Given the description of an element on the screen output the (x, y) to click on. 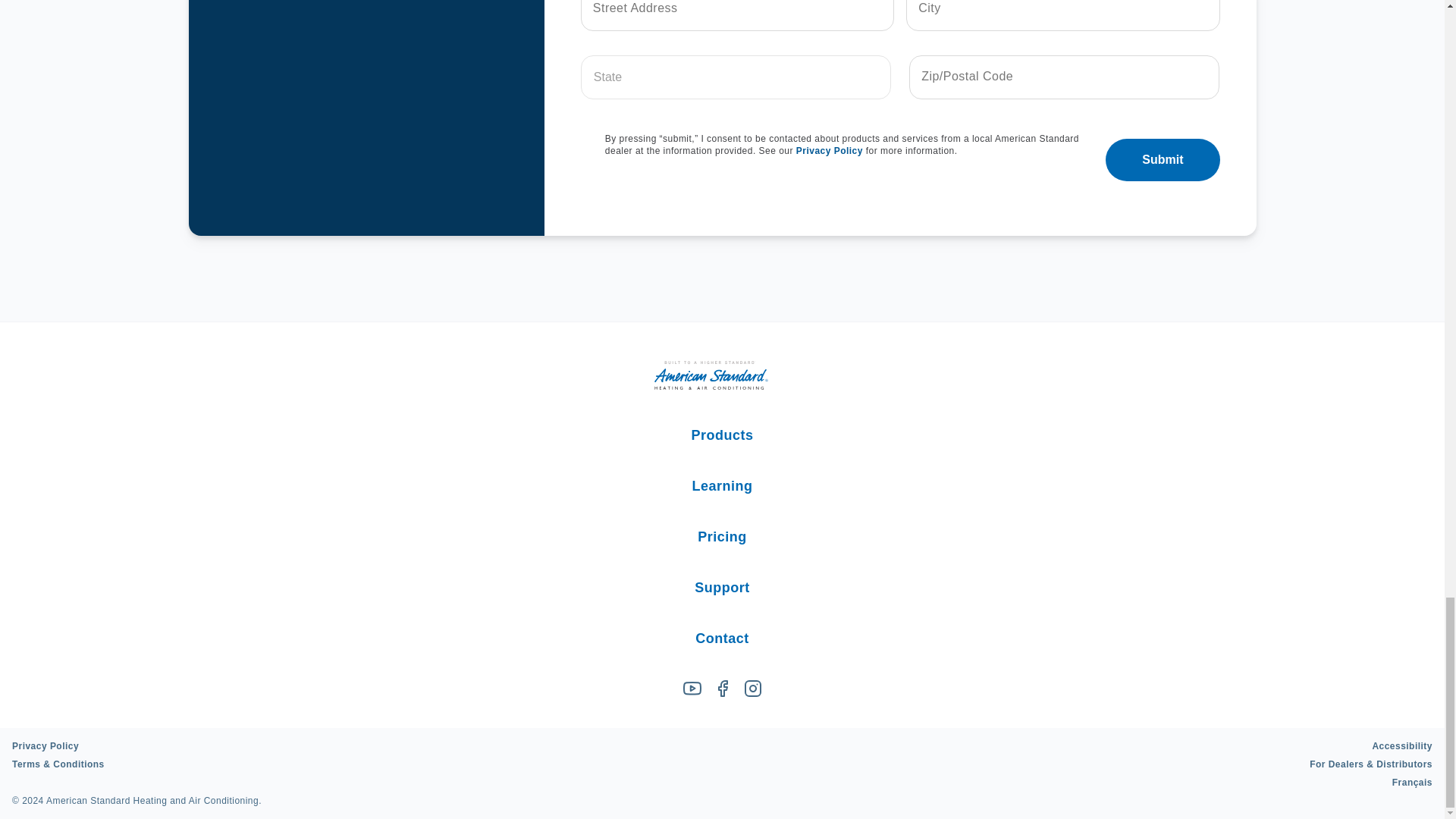
Pricing (721, 536)
Privacy Policy (829, 150)
facebook (721, 688)
instagram (751, 688)
Learning (722, 485)
Submit (1162, 159)
Privacy Policy (44, 735)
Products (722, 435)
Contact (721, 638)
youtube (691, 688)
